Given the description of an element on the screen output the (x, y) to click on. 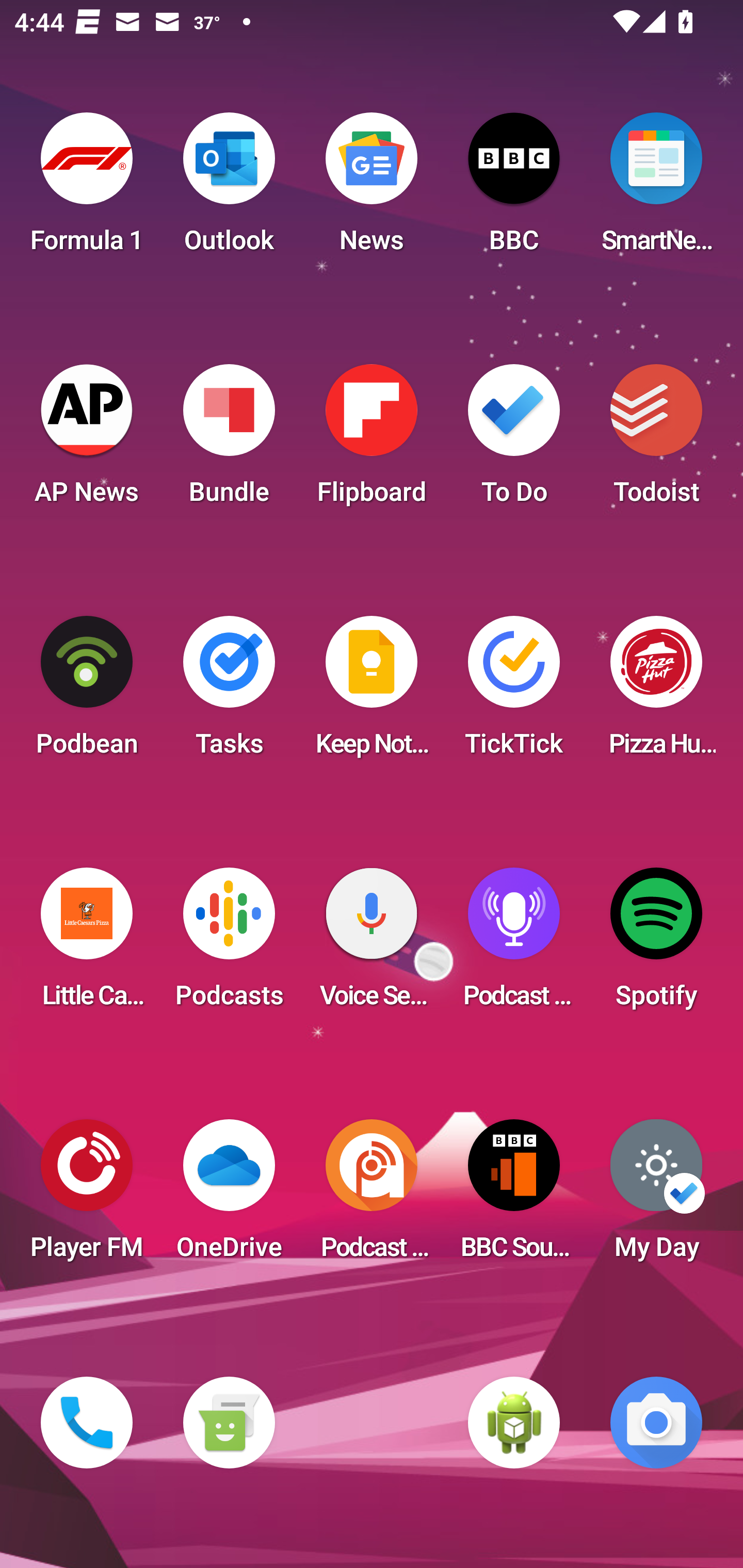
Formula 1 (86, 188)
Outlook (228, 188)
News (371, 188)
BBC (513, 188)
SmartNews (656, 188)
AP News (86, 440)
Bundle (228, 440)
Flipboard (371, 440)
To Do (513, 440)
Todoist (656, 440)
Podbean (86, 692)
Tasks (228, 692)
Keep Notes (371, 692)
TickTick (513, 692)
Pizza Hut HK & Macau (656, 692)
Little Caesars Pizza (86, 943)
Podcasts (228, 943)
Voice Search (371, 943)
Podcast Player (513, 943)
Spotify (656, 943)
Player FM (86, 1195)
OneDrive (228, 1195)
Podcast Addict (371, 1195)
BBC Sounds (513, 1195)
My Day (656, 1195)
Phone (86, 1422)
Messaging (228, 1422)
WebView Browser Tester (513, 1422)
Camera (656, 1422)
